Given the description of an element on the screen output the (x, y) to click on. 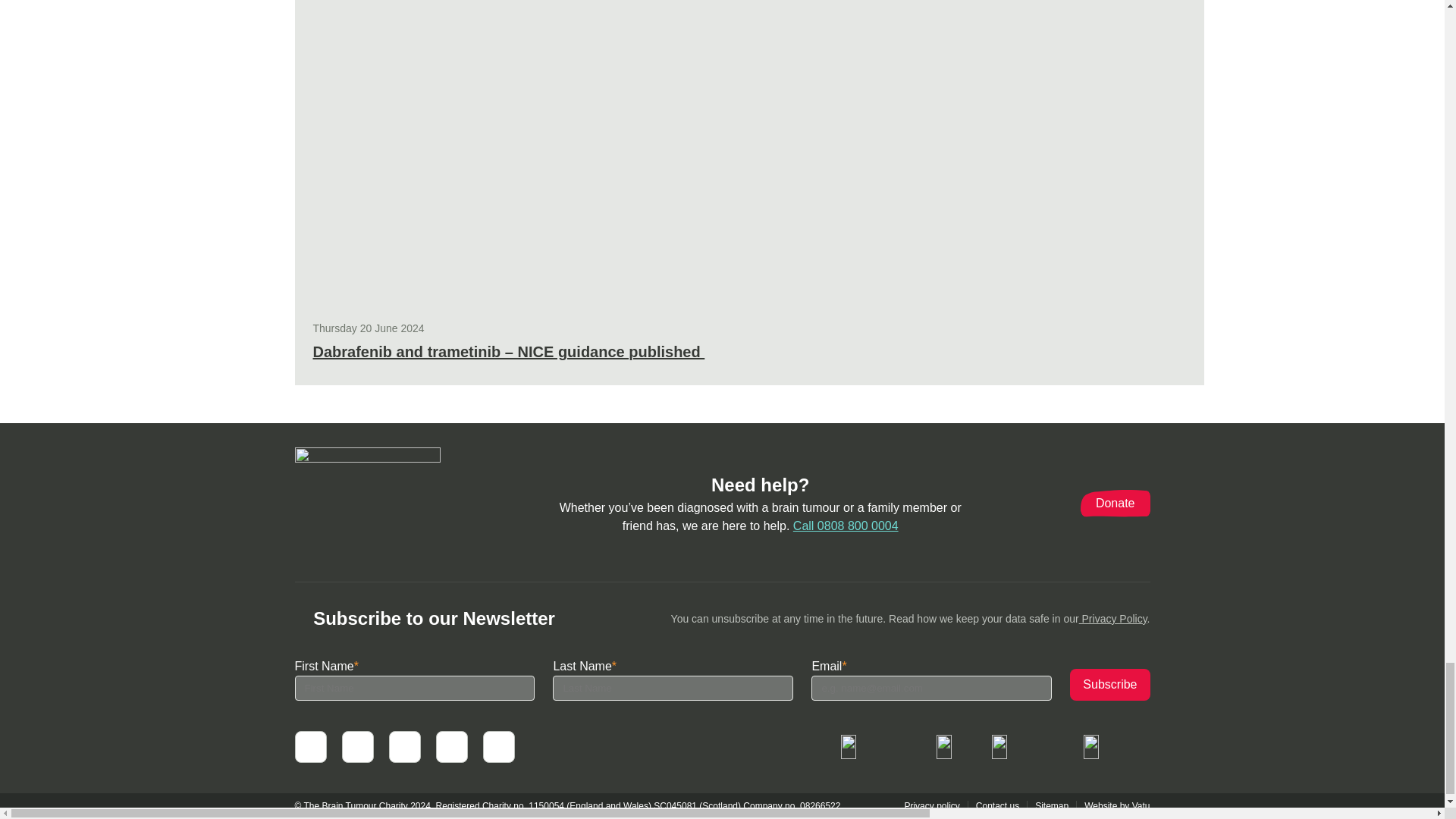
Instagram (497, 746)
YouTube (404, 746)
Tiktok (451, 746)
Facebook (310, 746)
Subscribe (1110, 685)
Twitter (356, 746)
